Given the description of an element on the screen output the (x, y) to click on. 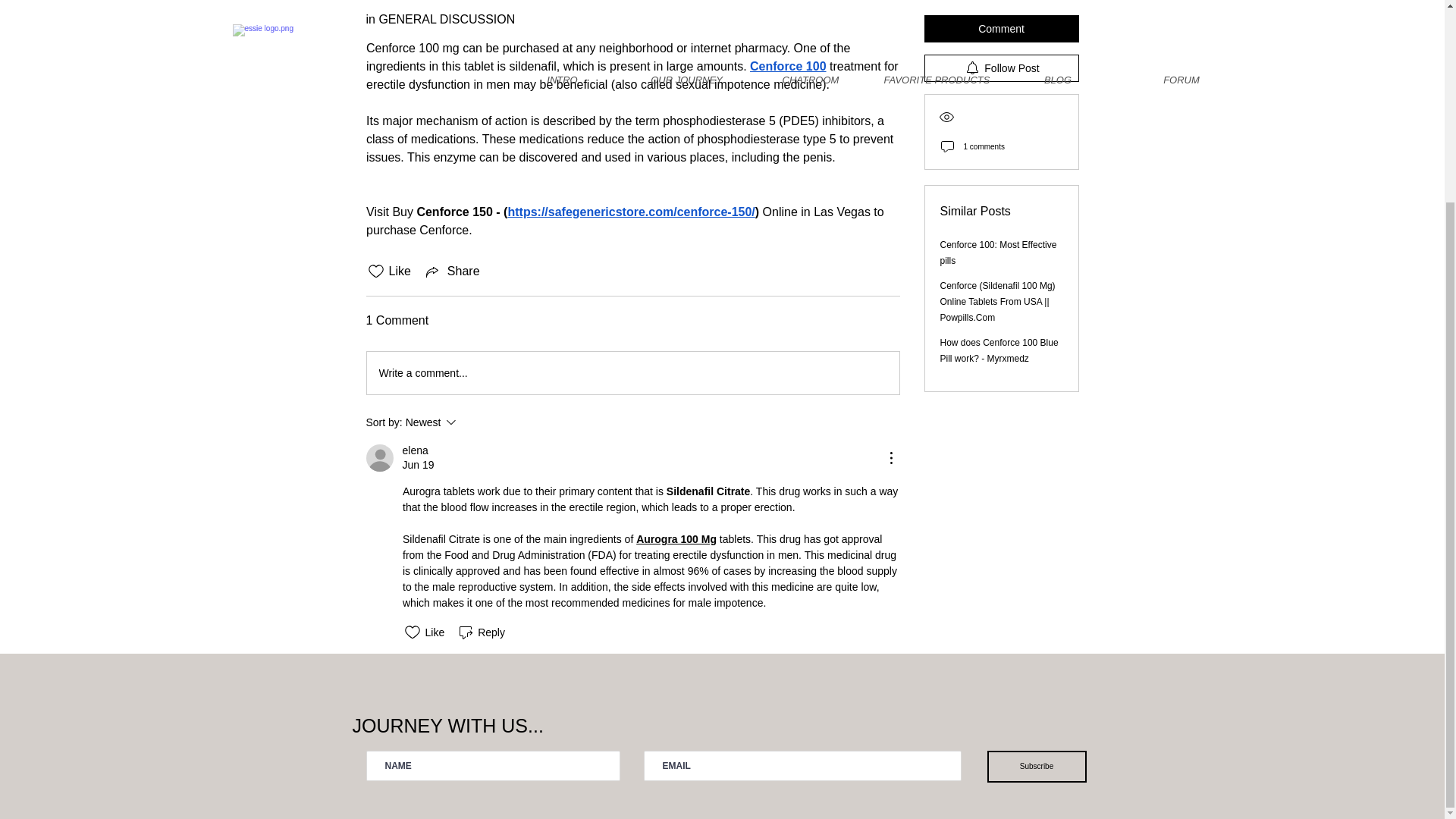
Cenforce 100: Most Effective pills (998, 171)
in GENERAL DISCUSSION (440, 19)
Cenforce 100 (788, 65)
Aurogra 100 Mg (471, 422)
elena (676, 539)
How does Cenforce 100 Blue Pill work? - Myrxmedz (414, 450)
Share (999, 268)
Subscribe (451, 271)
Reply (1036, 766)
